Given the description of an element on the screen output the (x, y) to click on. 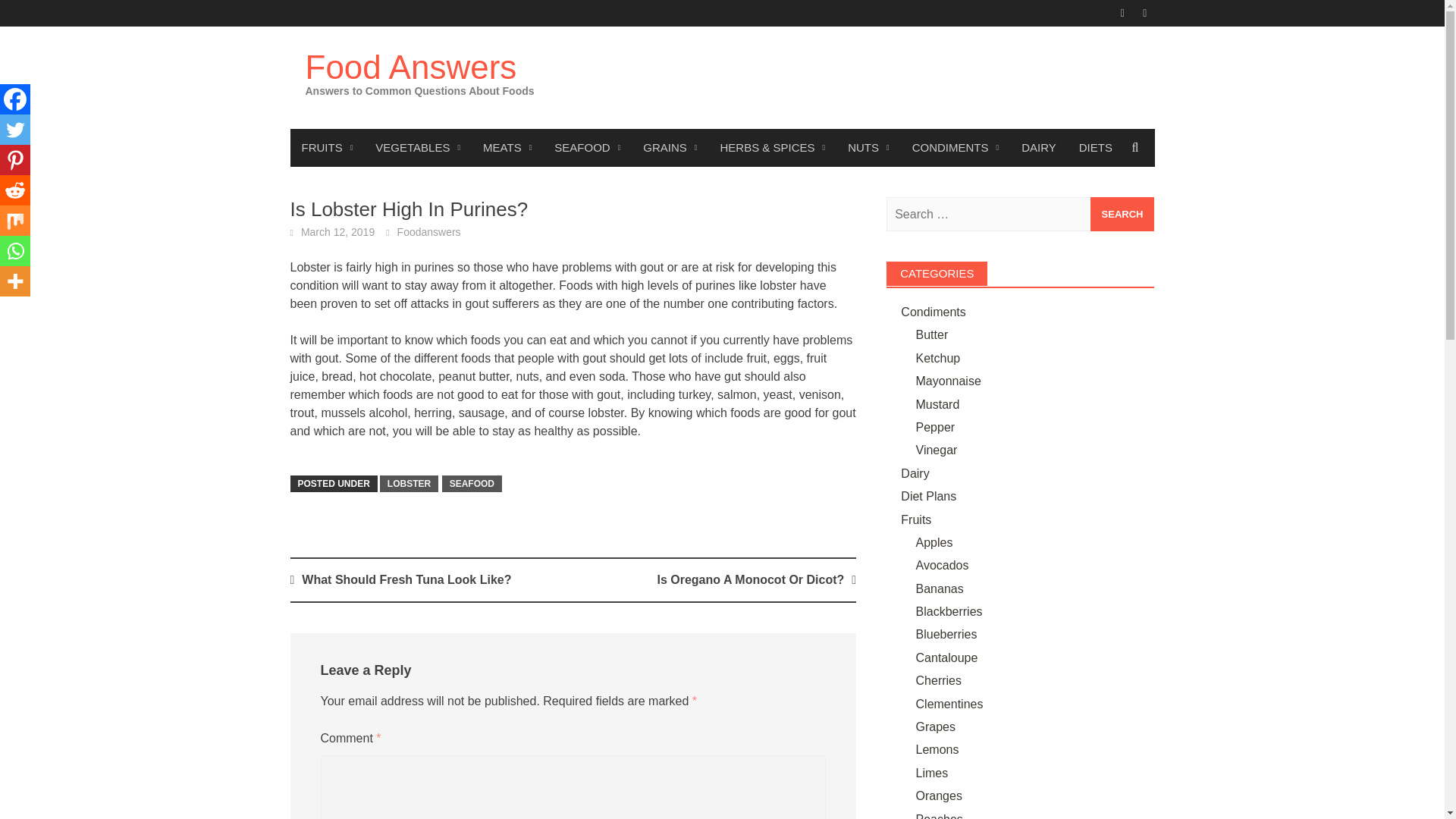
Food Answers (410, 66)
Pinterest (15, 159)
Reddit (15, 190)
Search (1122, 213)
Diet Plans (1095, 147)
VEGETABLES (417, 147)
FRUITS (326, 147)
Mix (15, 220)
Facebook (15, 99)
Search (1122, 213)
More (15, 281)
Twitter (15, 129)
Whatsapp (15, 250)
